Given the description of an element on the screen output the (x, y) to click on. 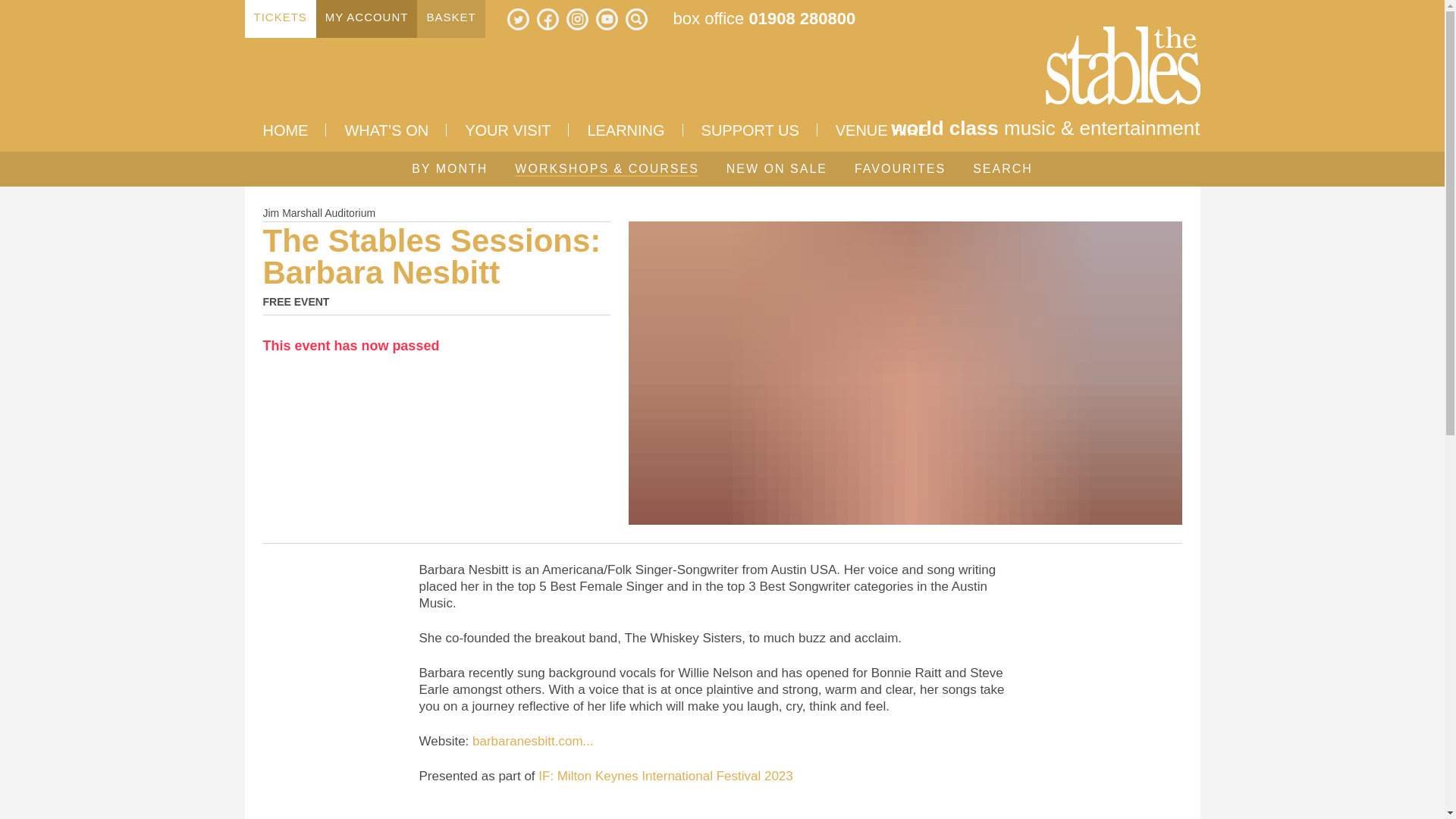
LEARNING (625, 129)
YOUR VISIT (507, 129)
Facebook (548, 18)
TICKETS (279, 18)
Instagram (577, 18)
BASKET (450, 18)
SUPPORT US (749, 129)
MY ACCOUNT (366, 18)
VENUE HIRE (881, 129)
HOME (285, 129)
Twitter (517, 18)
